Given the description of an element on the screen output the (x, y) to click on. 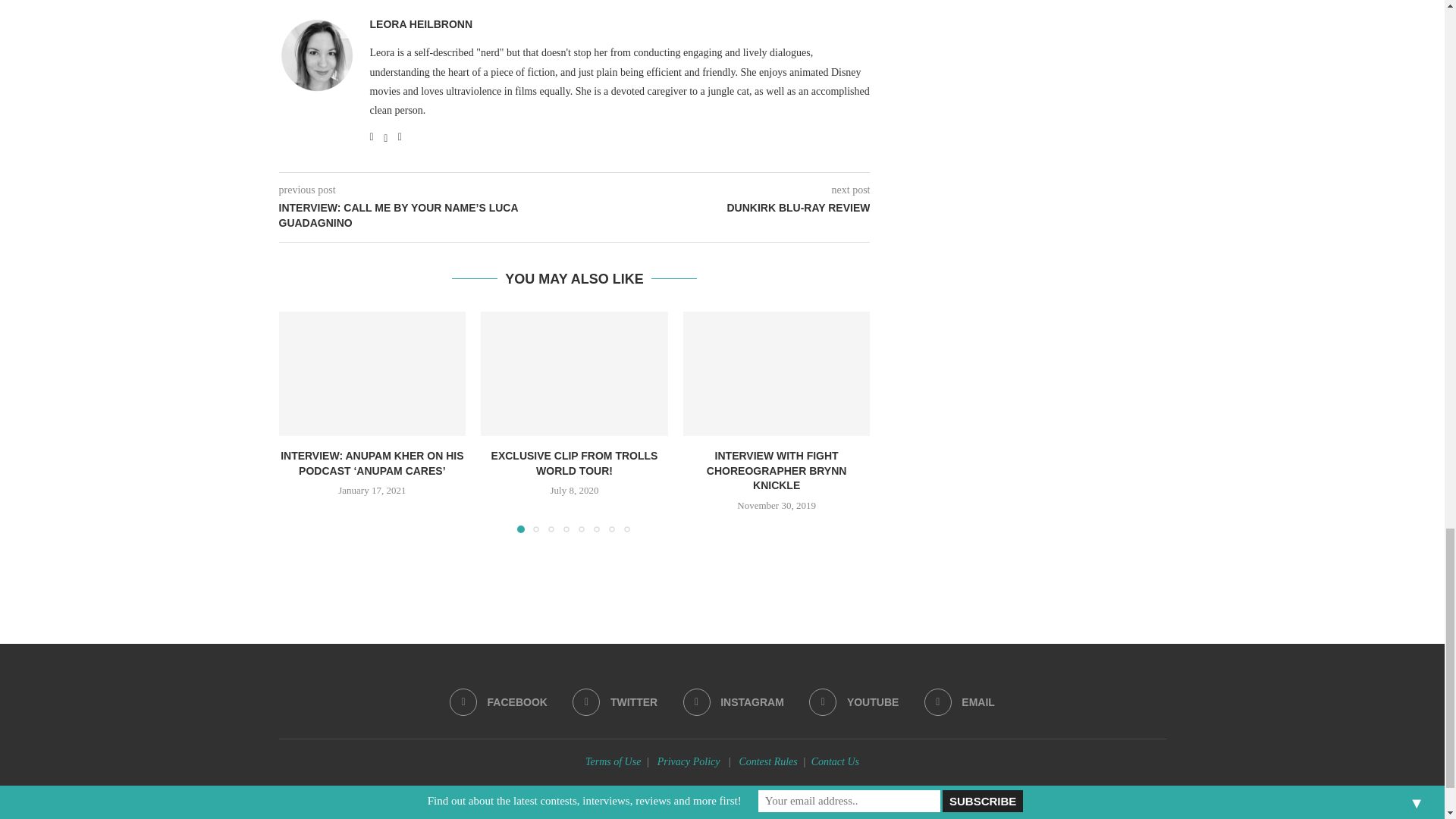
Interview with Fight Choreographer Brynn Knickle (776, 373)
Author Leora Heilbronn (421, 24)
Exclusive clip from Trolls World Tour! (574, 373)
